Given the description of an element on the screen output the (x, y) to click on. 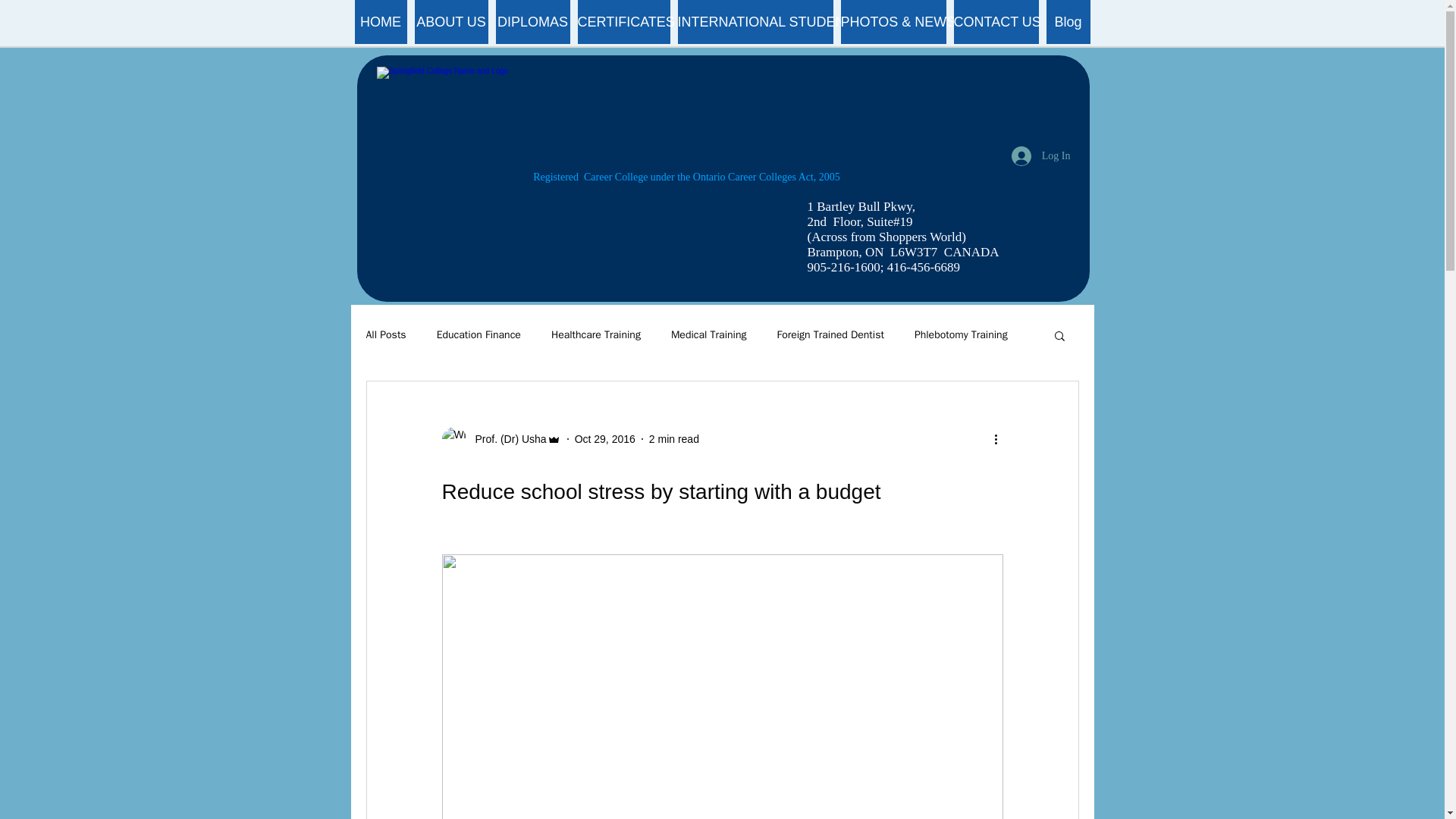
College in Brampton (715, 129)
Oct 29, 2016 (604, 438)
HOME (381, 22)
2 min read (673, 438)
